Given the description of an element on the screen output the (x, y) to click on. 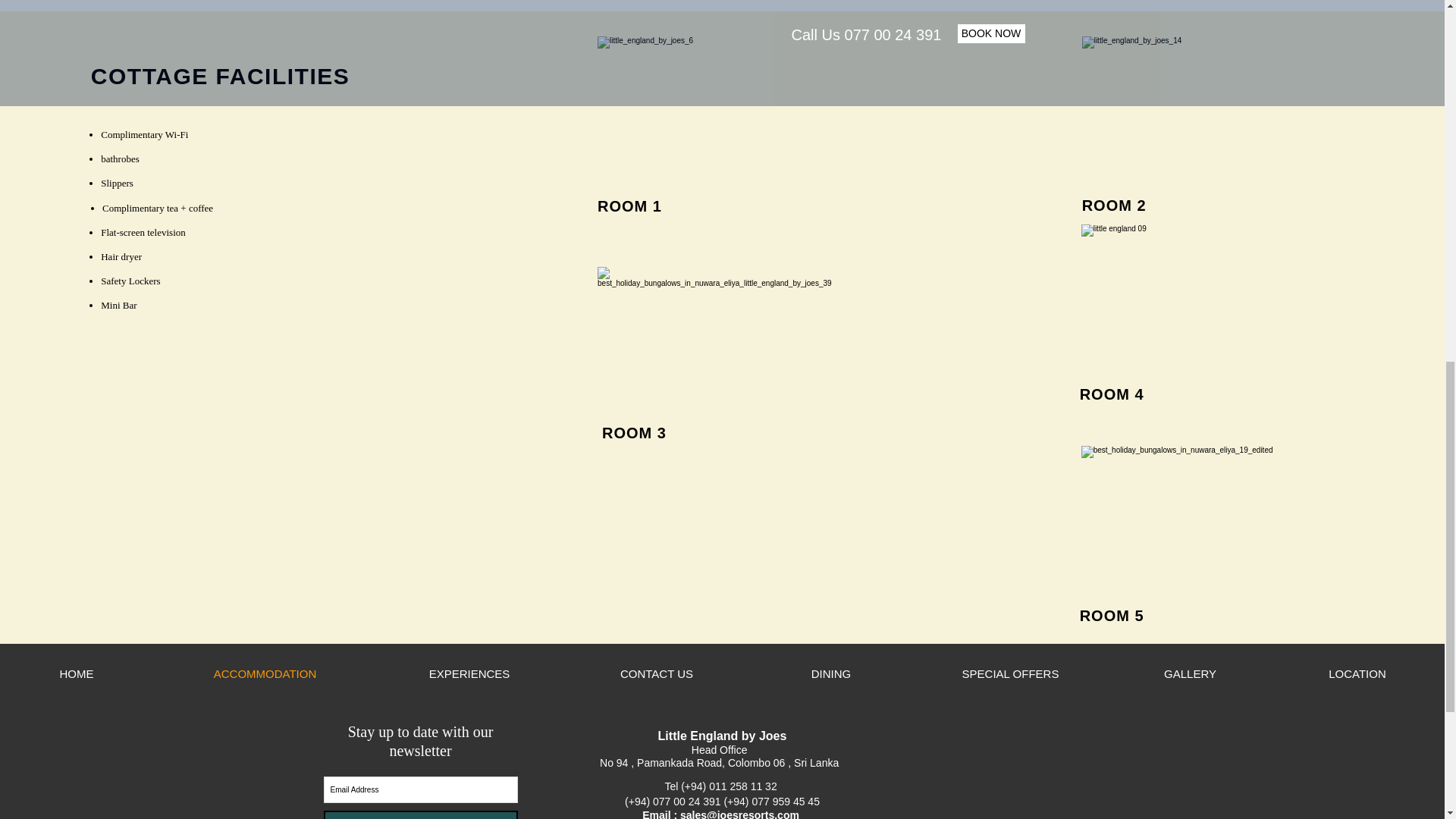
DINING (831, 673)
HOME (76, 673)
ACCOMMODATION (264, 673)
ROOM 3 (634, 433)
GALLERY (1189, 673)
ROOM 1 (629, 206)
EXPERIENCES (469, 673)
ROOM 2 (1114, 205)
ROOM 4 (1112, 393)
Subscribe Now (419, 814)
